Given the description of an element on the screen output the (x, y) to click on. 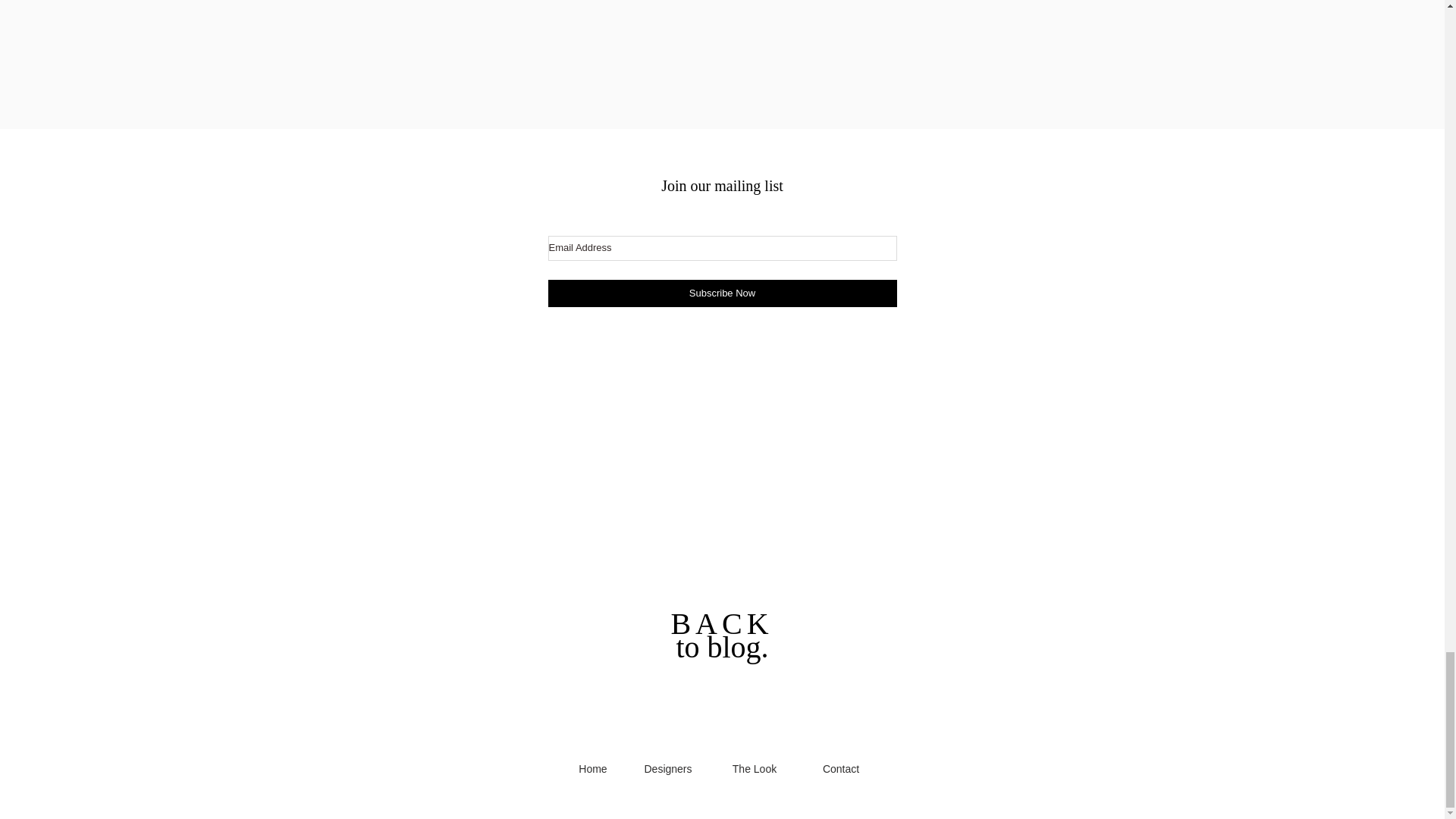
BACK (721, 623)
to blog. (721, 646)
Contact (840, 768)
Subscribe Now (721, 293)
Home (592, 768)
Designers (667, 768)
The Look (754, 768)
